Given the description of an element on the screen output the (x, y) to click on. 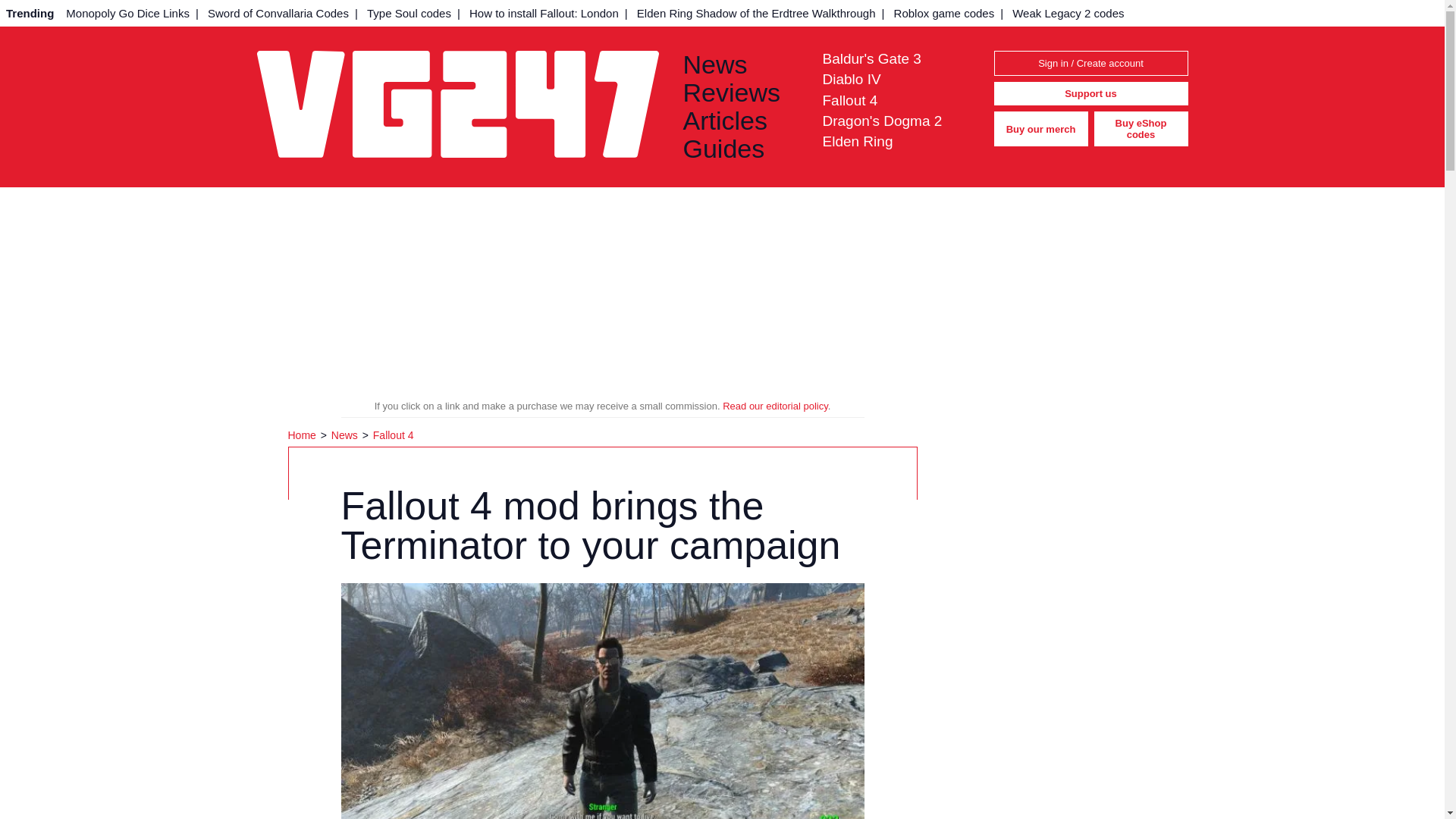
Elden Ring (857, 141)
Home (303, 435)
News (346, 435)
Sword of Convallaria Codes (278, 13)
Read our editorial policy (775, 405)
How to install Fallout: London (543, 13)
Weak Legacy 2 codes (1067, 13)
Fallout 4 (849, 100)
Baldur's Gate 3 (871, 58)
Home (303, 435)
